Given the description of an element on the screen output the (x, y) to click on. 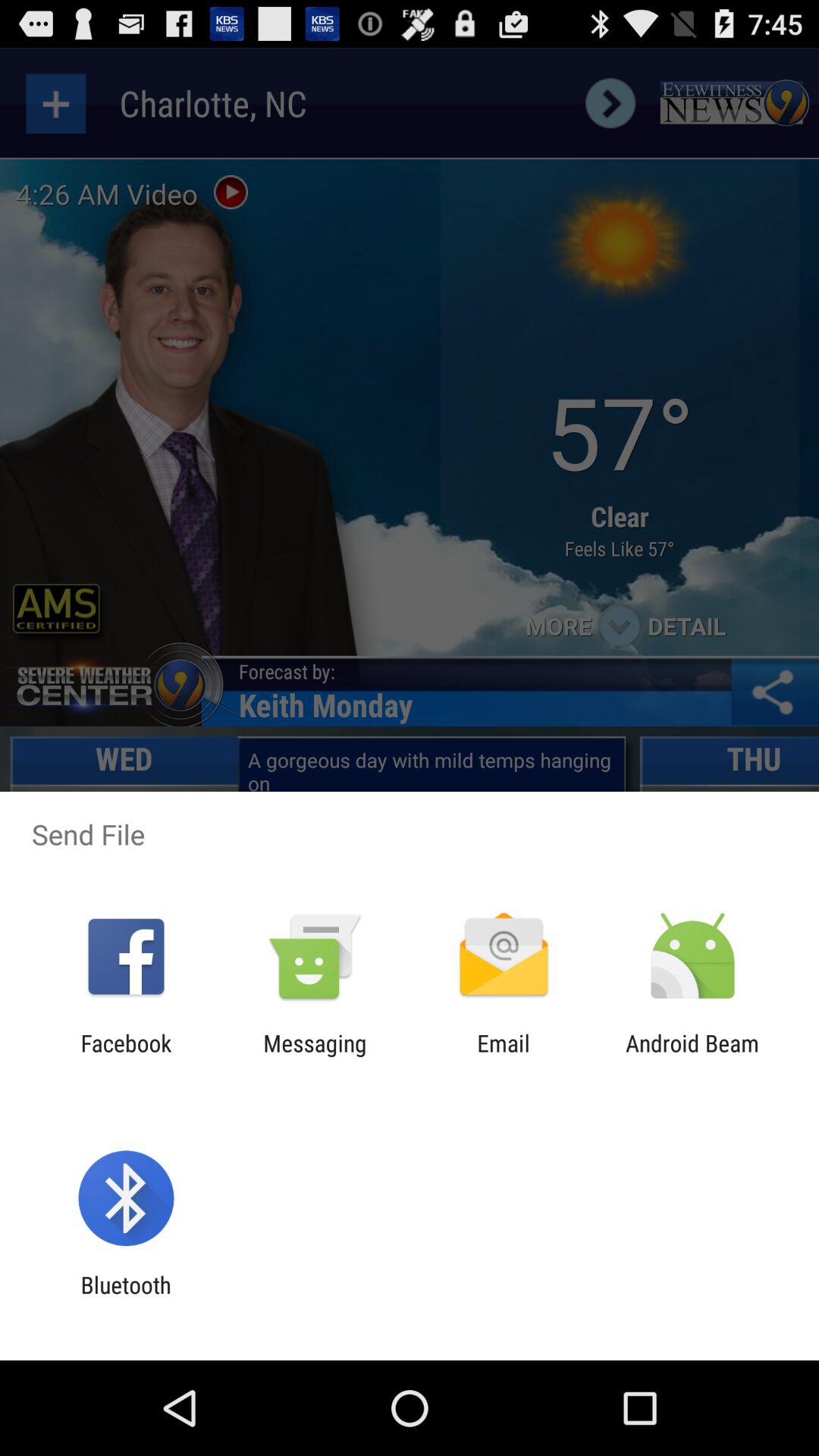
press the app next to the facebook app (314, 1056)
